Given the description of an element on the screen output the (x, y) to click on. 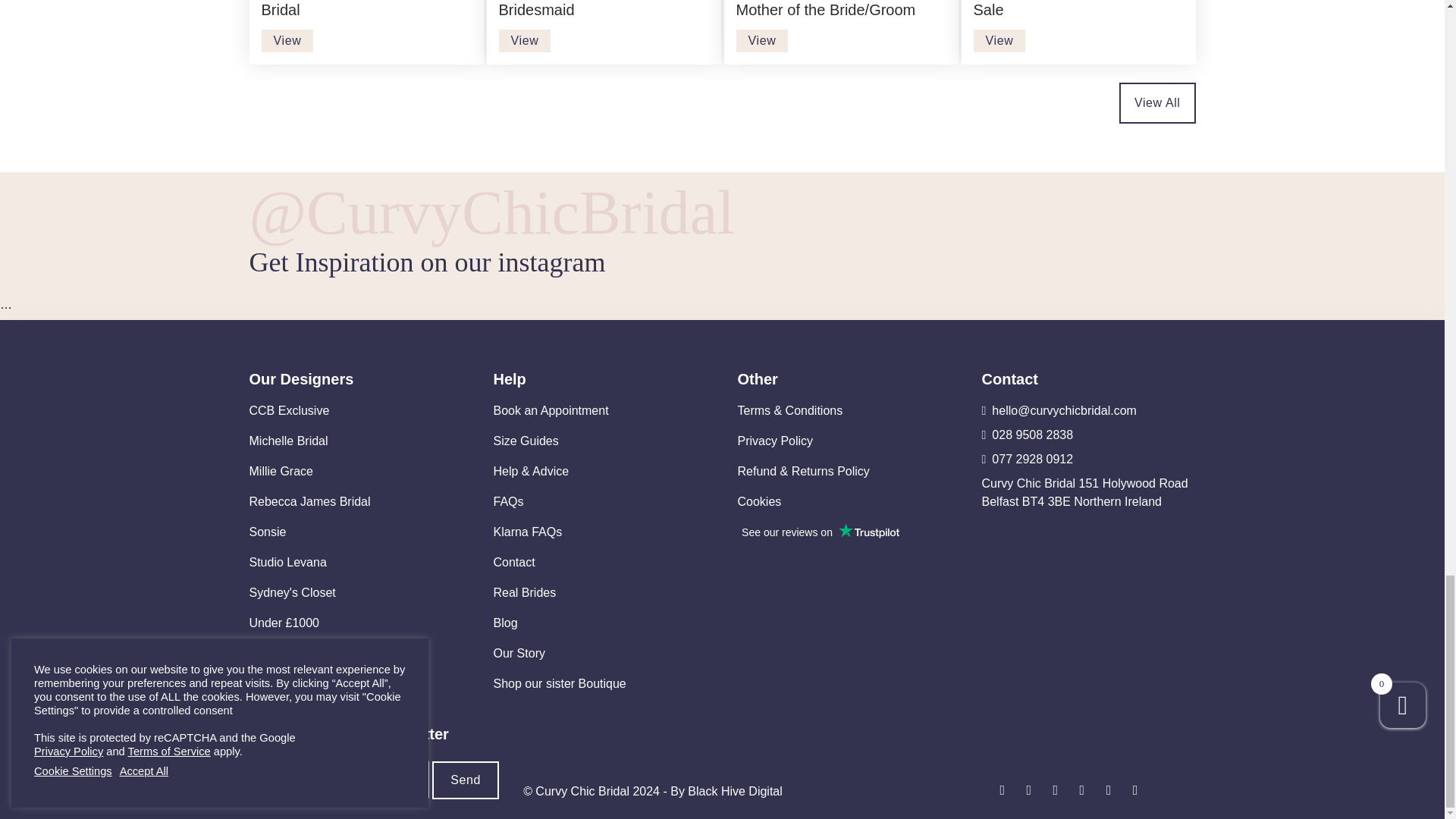
Customer reviews powered by Trustpilot (819, 532)
